Given the description of an element on the screen output the (x, y) to click on. 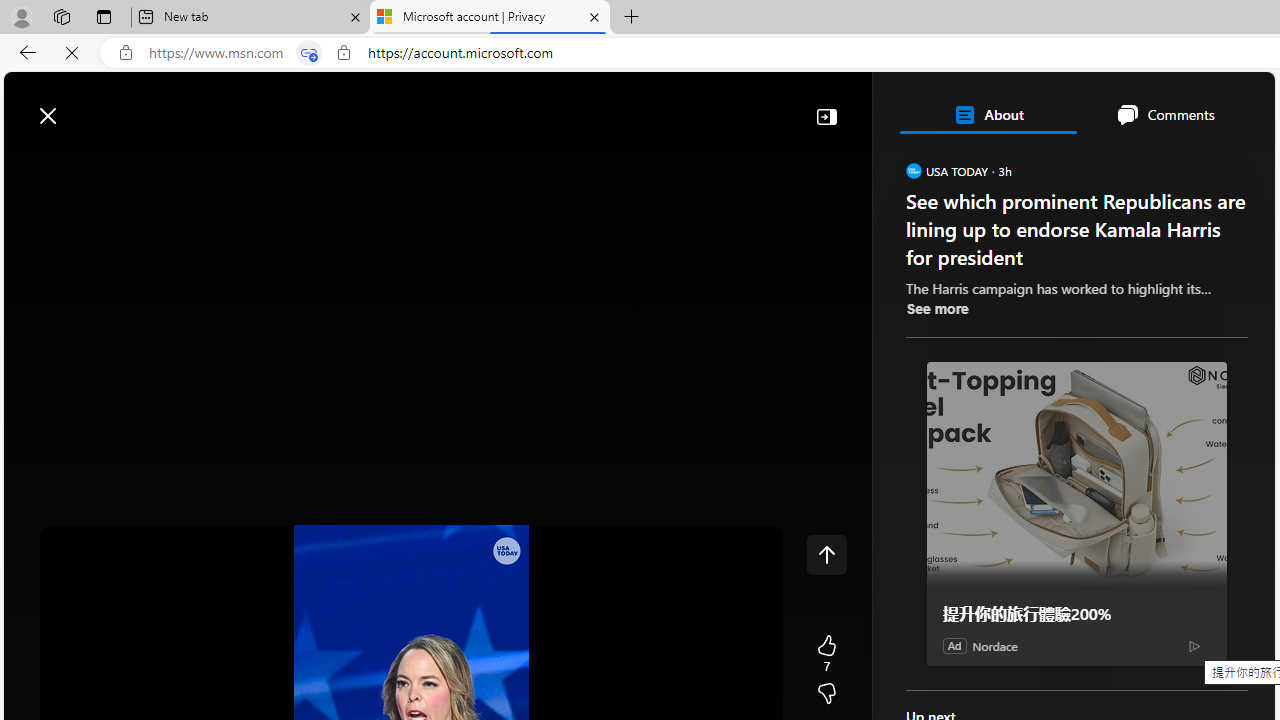
Tabs in split screen (308, 53)
Love dogs? We do, too. (1084, 288)
Personalize (1195, 162)
Class: button-glyph (29, 162)
